Given the description of an element on the screen output the (x, y) to click on. 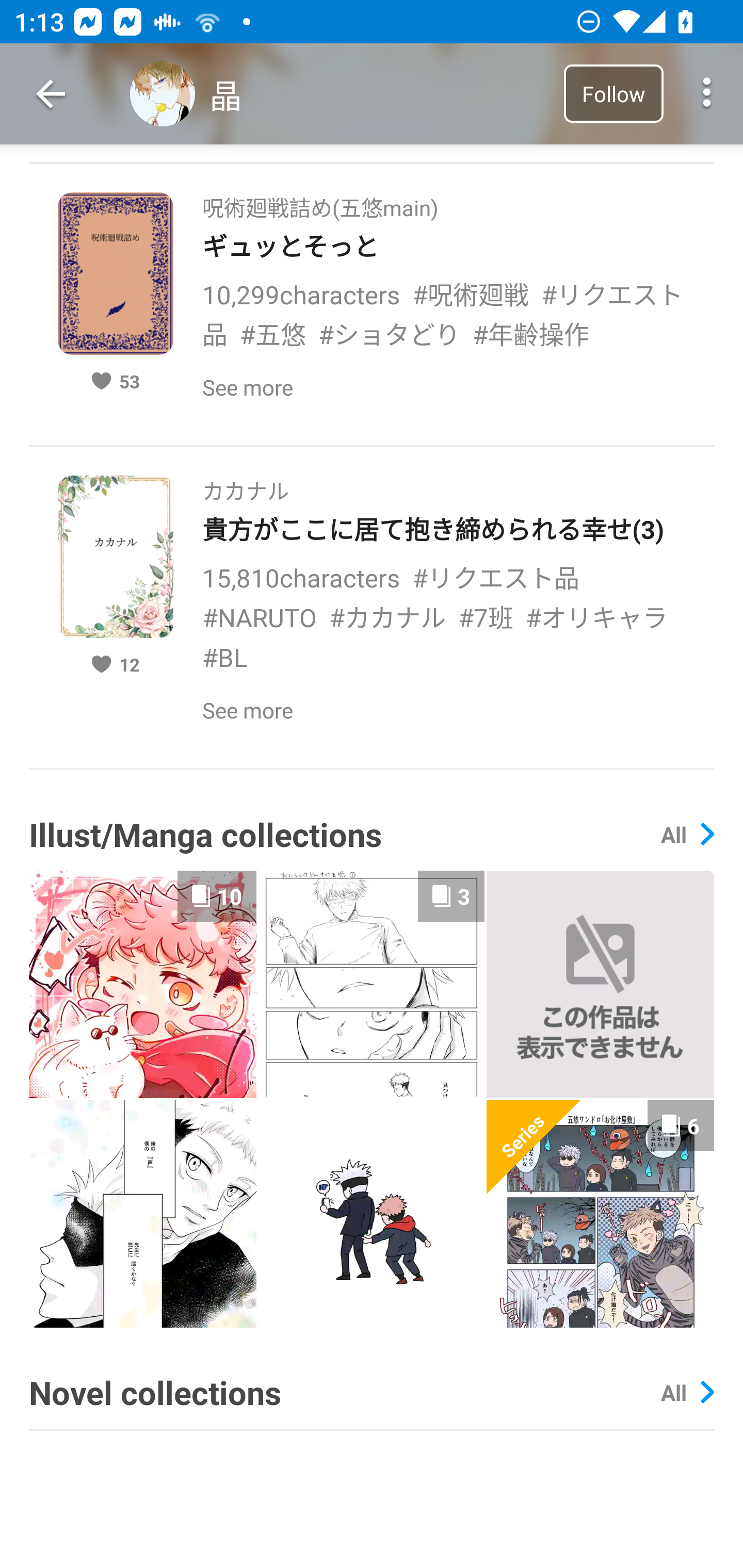
Navigate up (50, 93)
More options (706, 93)
Follow (613, 93)
呪術廻戦詰め(五悠main) (320, 201)
カカナル (245, 484)
All (687, 834)
10 (142, 983)
3 (371, 983)
Series 6 (600, 1214)
Series (533, 1147)
All (687, 1392)
